Given the description of an element on the screen output the (x, y) to click on. 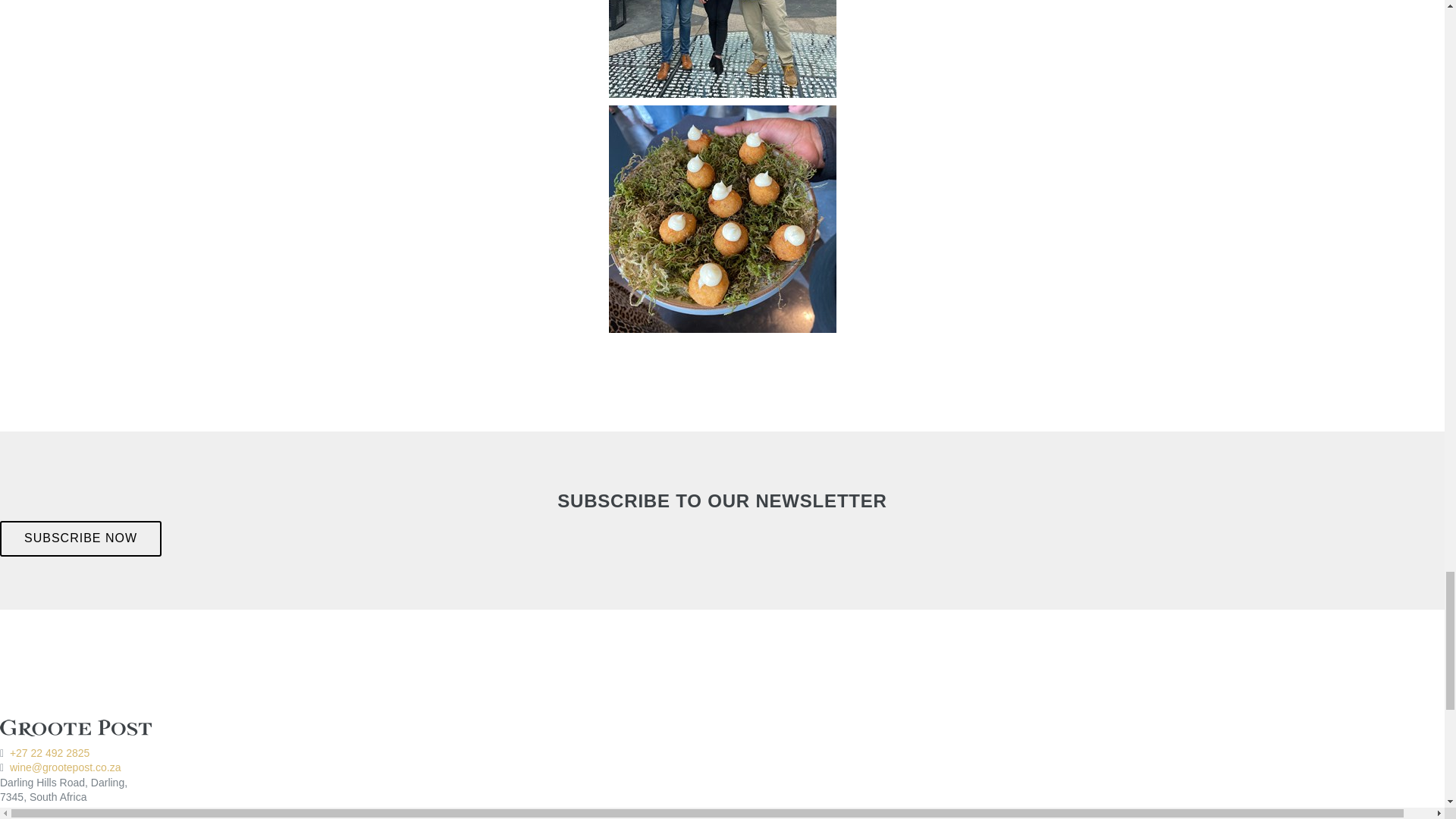
Groote Post Wines (75, 730)
Canapes at Pinch of Salt Launch (721, 217)
